Given the description of an element on the screen output the (x, y) to click on. 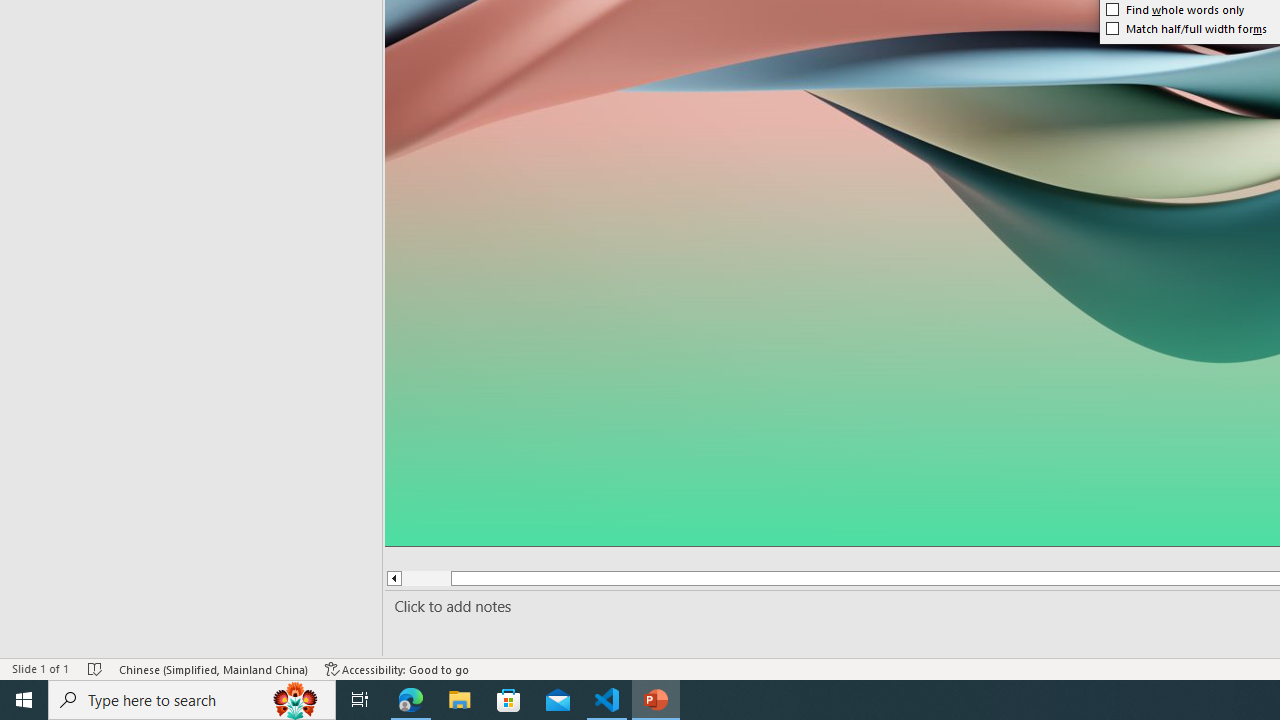
Find whole words only (1175, 10)
Accessibility Checker Accessibility: Good to go (397, 668)
Match half/full width forms (1186, 28)
Microsoft Edge - 1 running window (411, 699)
